Given the description of an element on the screen output the (x, y) to click on. 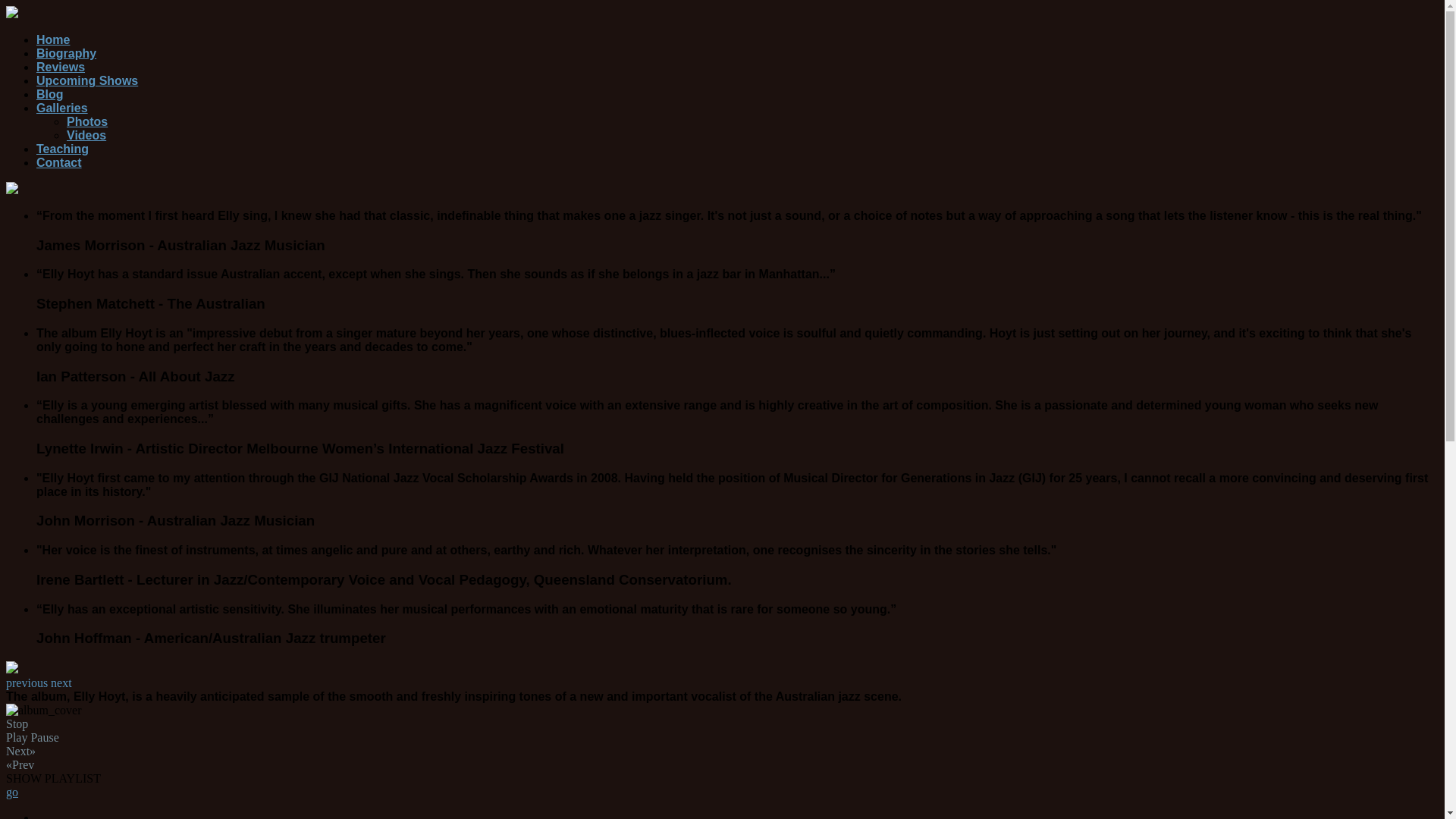
Videos Element type: text (86, 134)
Biography Element type: text (66, 53)
go Element type: text (12, 791)
Upcoming Shows Element type: text (87, 80)
Contact Element type: text (58, 162)
Blog Element type: text (49, 93)
next Element type: text (61, 682)
SHOW PLAYLIST Element type: text (722, 778)
Galleries Element type: text (61, 107)
Reviews Element type: text (60, 66)
Home Element type: text (52, 39)
Elly Hoyt Element type: hover (12, 189)
Photos Element type: text (86, 121)
Teaching Element type: text (62, 148)
previous Element type: text (26, 682)
